Given the description of an element on the screen output the (x, y) to click on. 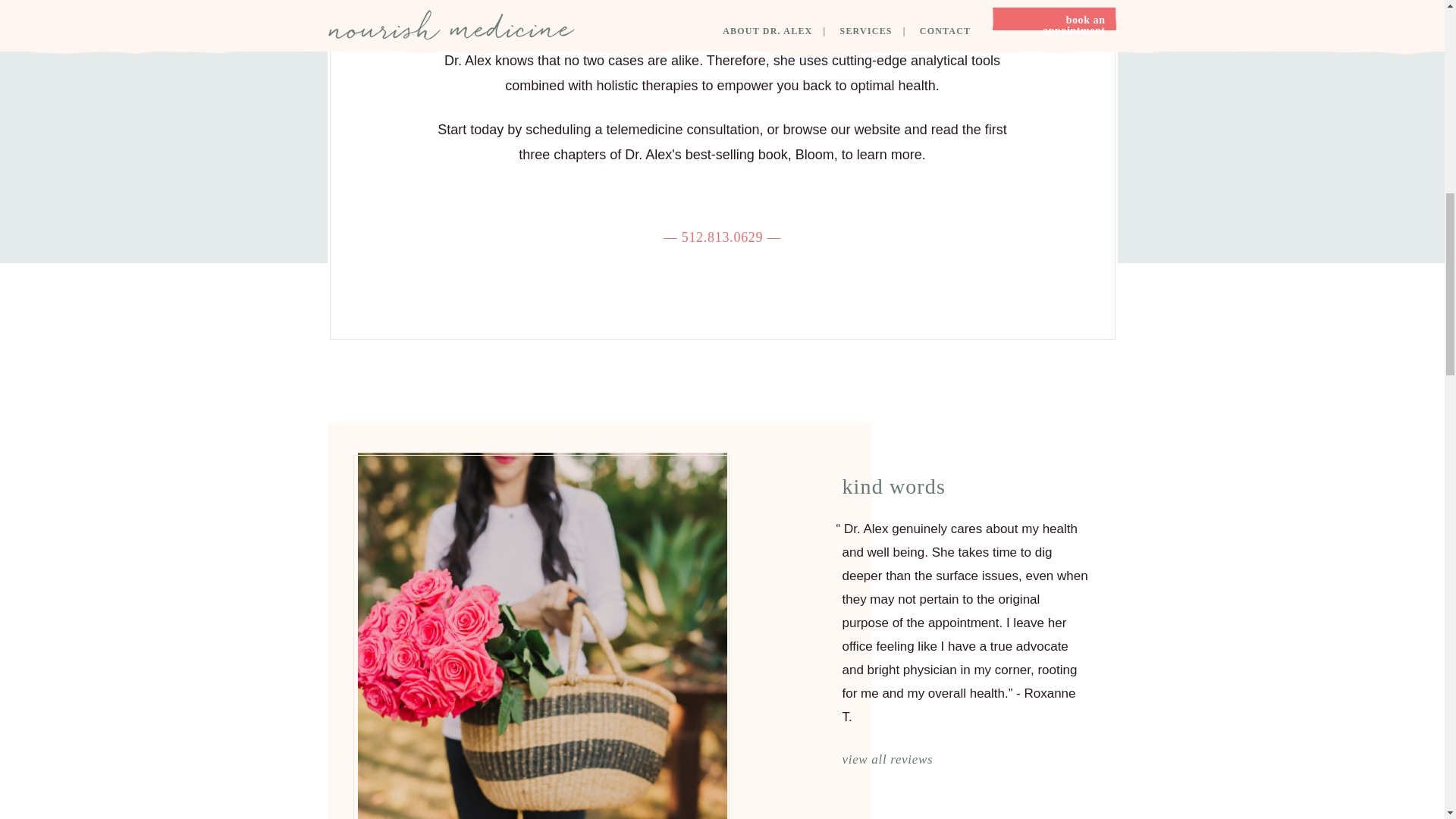
book an appointment (722, 201)
view all reviews (887, 759)
512.813.0629 (722, 237)
